Given the description of an element on the screen output the (x, y) to click on. 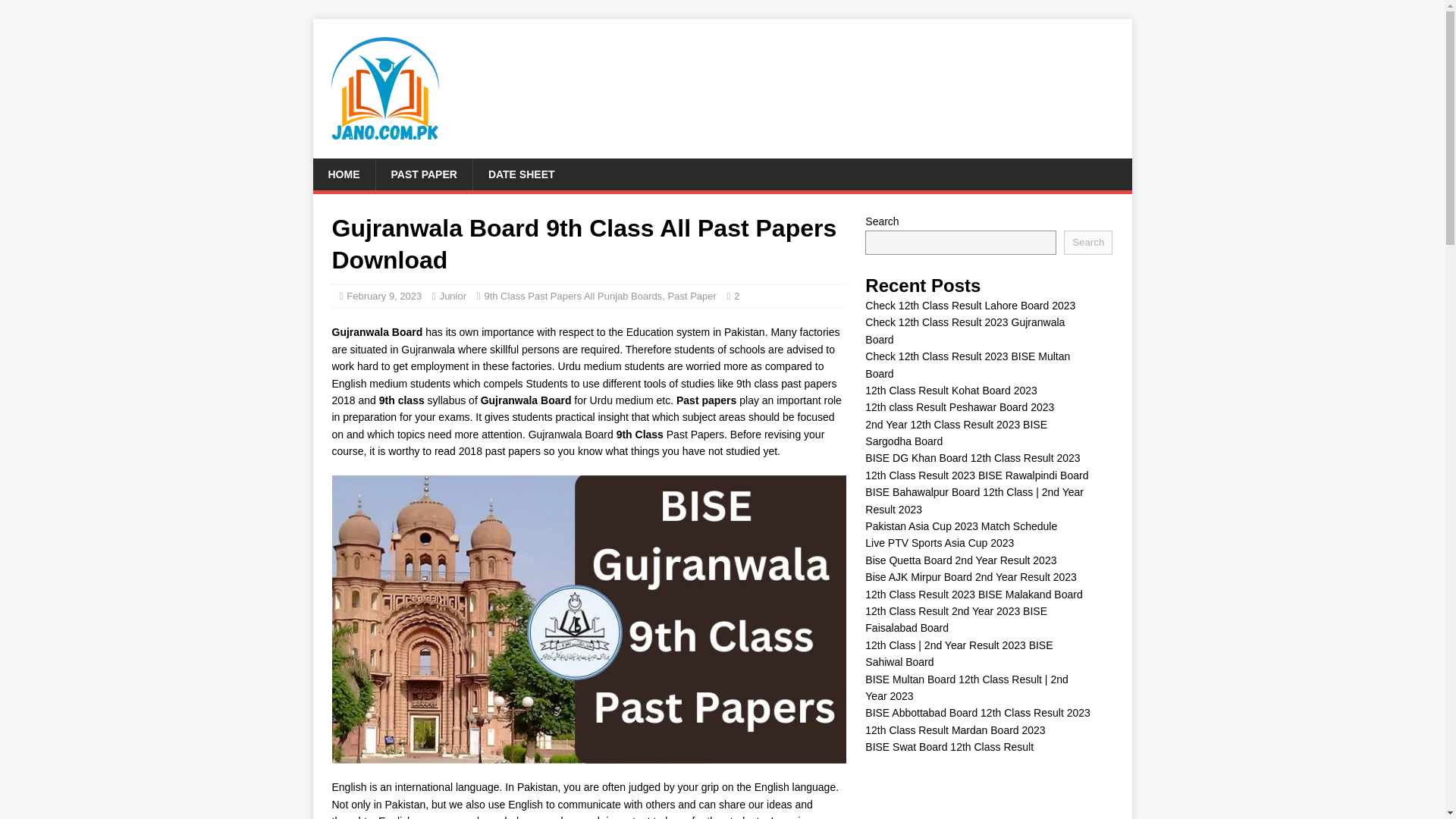
12th Class Result Kohat Board 2023 (950, 390)
Past Paper (692, 296)
PAST PAPER (422, 174)
2nd Year 12th Class Result 2023 BISE Sargodha Board (955, 432)
DATE SHEET (520, 174)
Check 12th Class Result 2023 Gujranwala Board (964, 330)
Check 12th Class Result Lahore Board 2023 (969, 305)
Search (1088, 242)
February 9, 2023 (384, 296)
HOME (343, 174)
Check 12th Class Result 2023 BISE Multan Board (967, 364)
Junior (452, 296)
9th Class Past Papers All Punjab Boards (572, 296)
12th class Result Peshawar Board 2023 (959, 407)
